Given the description of an element on the screen output the (x, y) to click on. 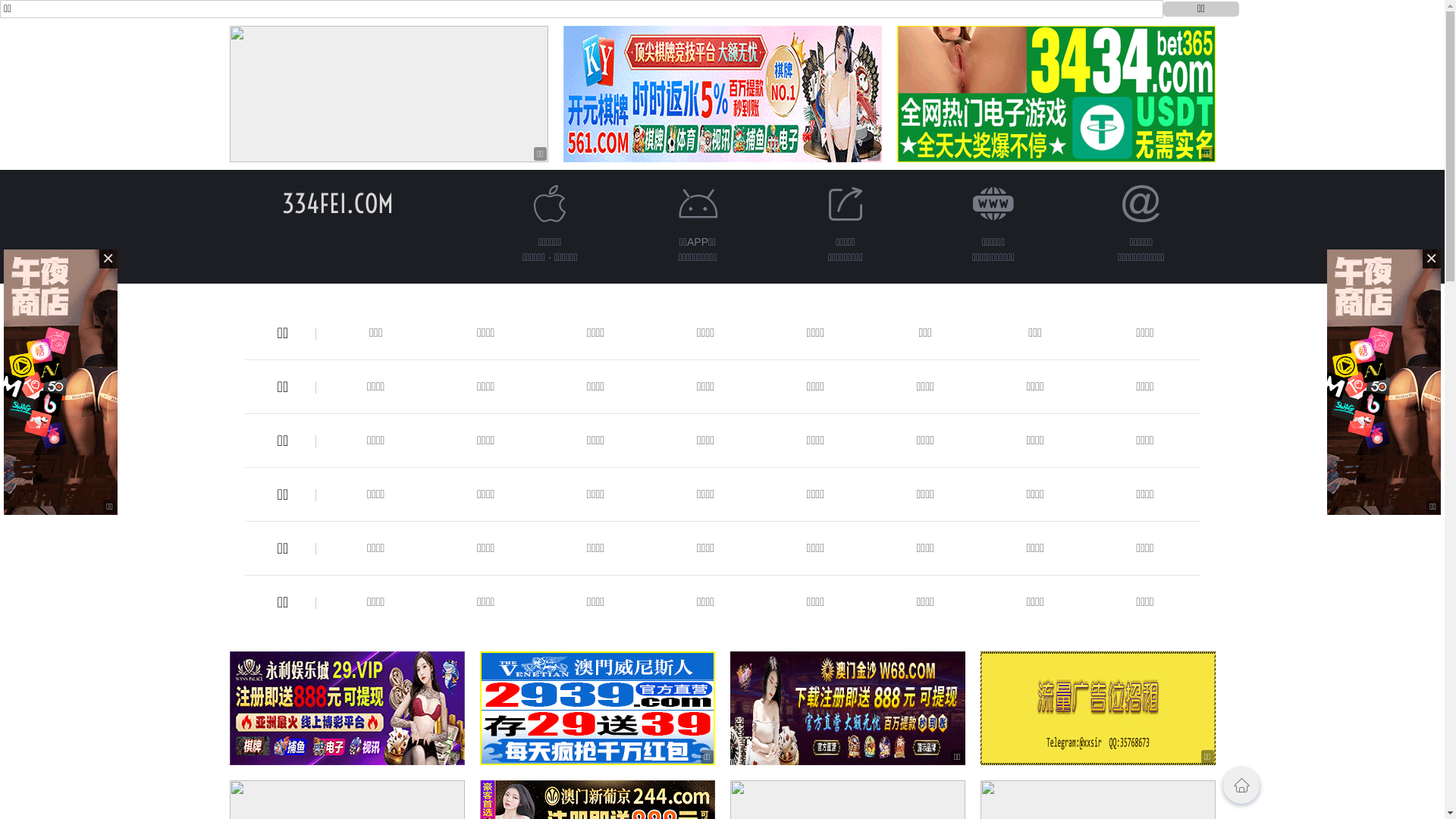
334FEI.COM Element type: text (337, 203)
